Given the description of an element on the screen output the (x, y) to click on. 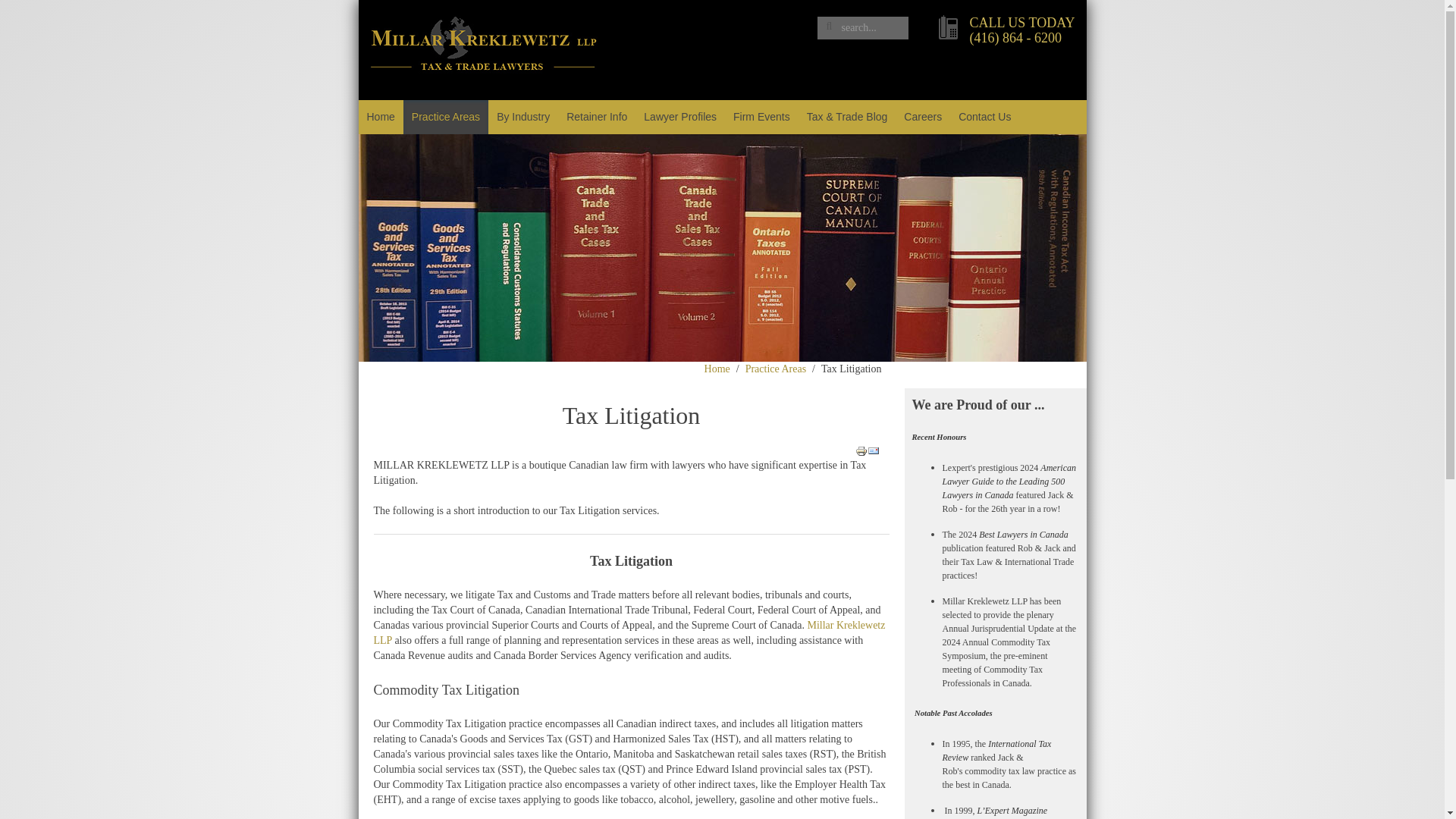
Home (380, 116)
Practice Areas (445, 116)
By Industry (522, 116)
Practice Areas (775, 368)
Firm Events (761, 116)
Lawyer Profiles (679, 116)
Home (717, 368)
Careers (922, 116)
Contact Us (984, 116)
Print (861, 449)
